Given the description of an element on the screen output the (x, y) to click on. 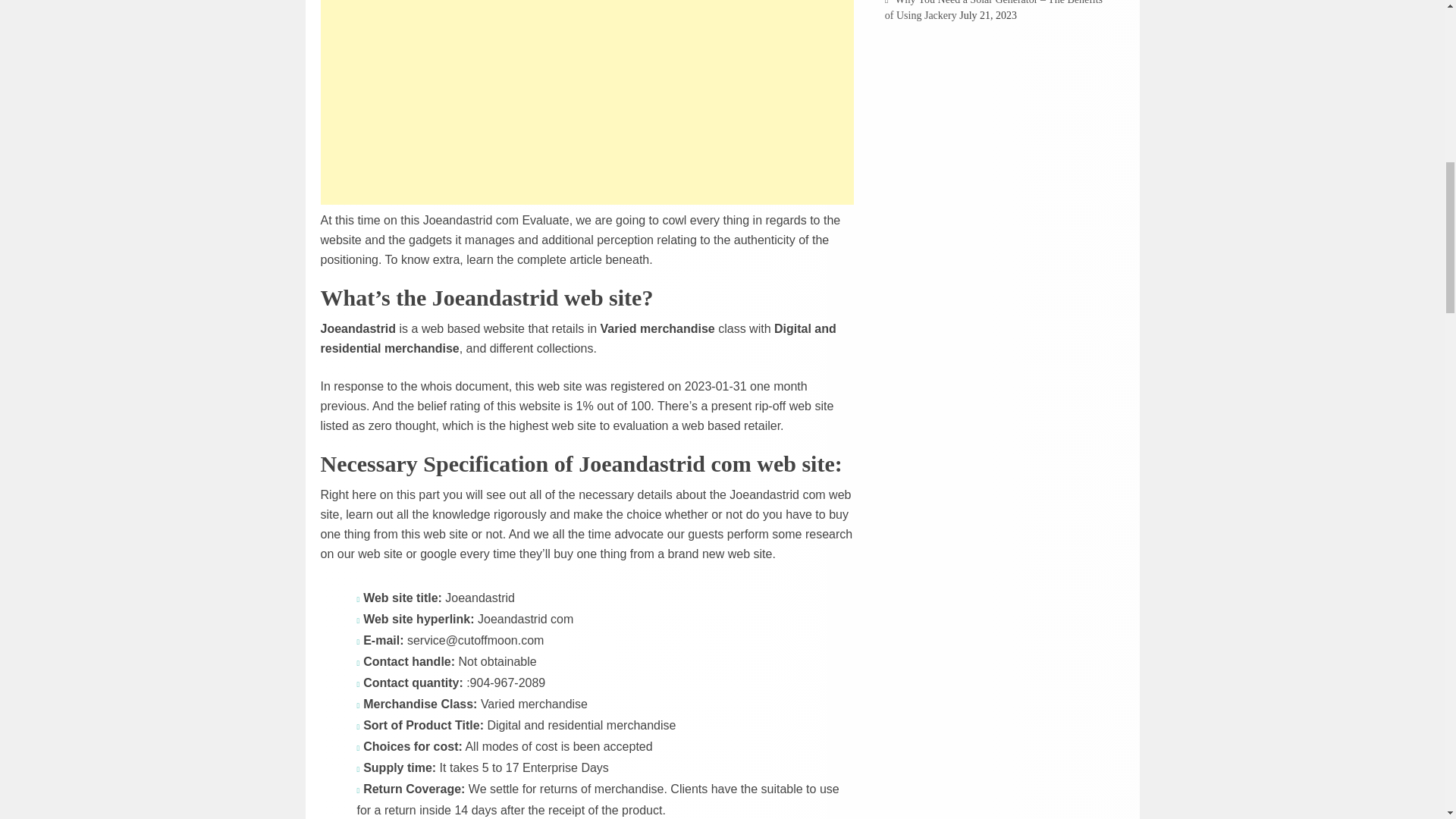
Advertisement (586, 102)
